Given the description of an element on the screen output the (x, y) to click on. 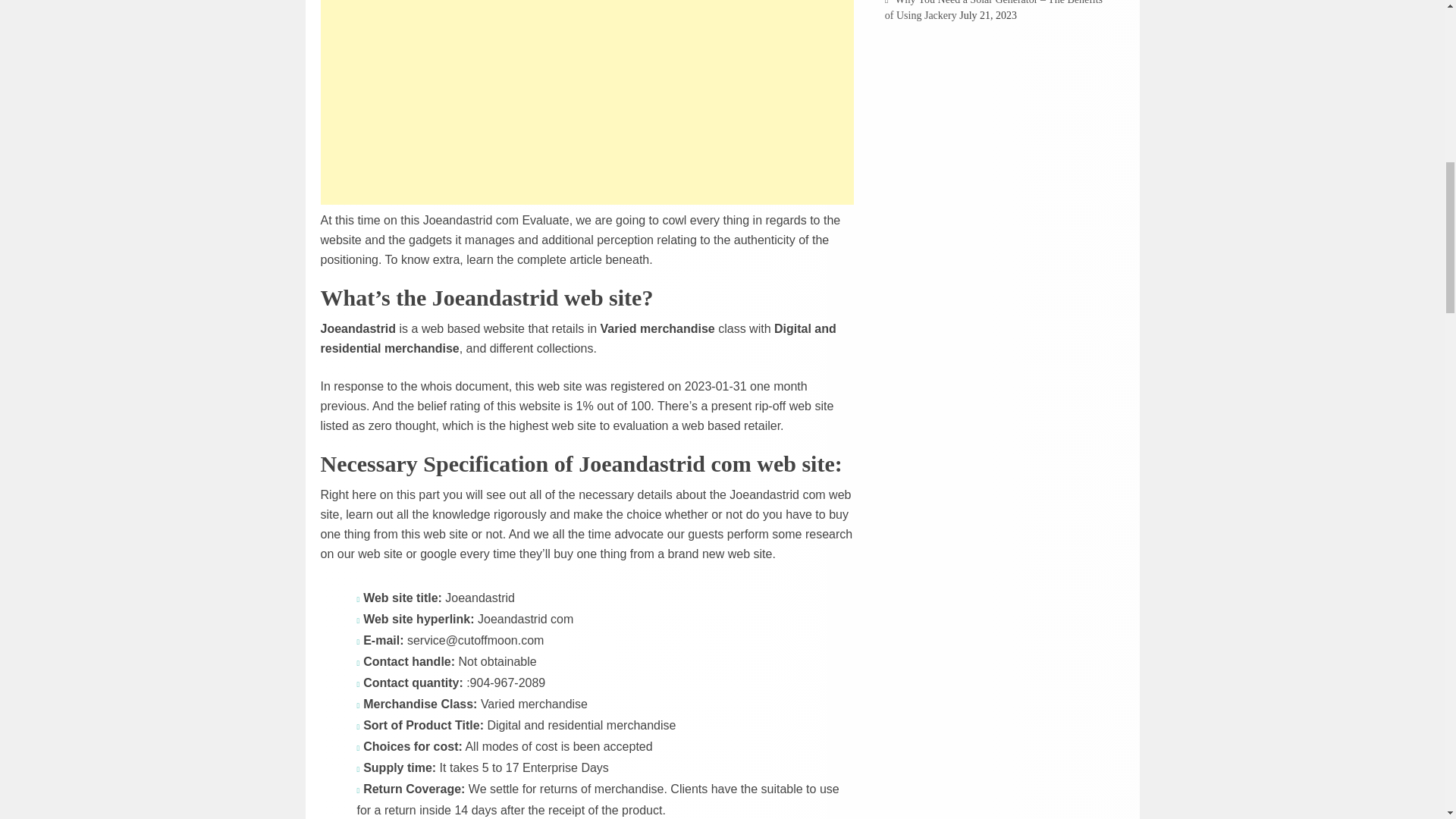
Advertisement (586, 102)
